Given the description of an element on the screen output the (x, y) to click on. 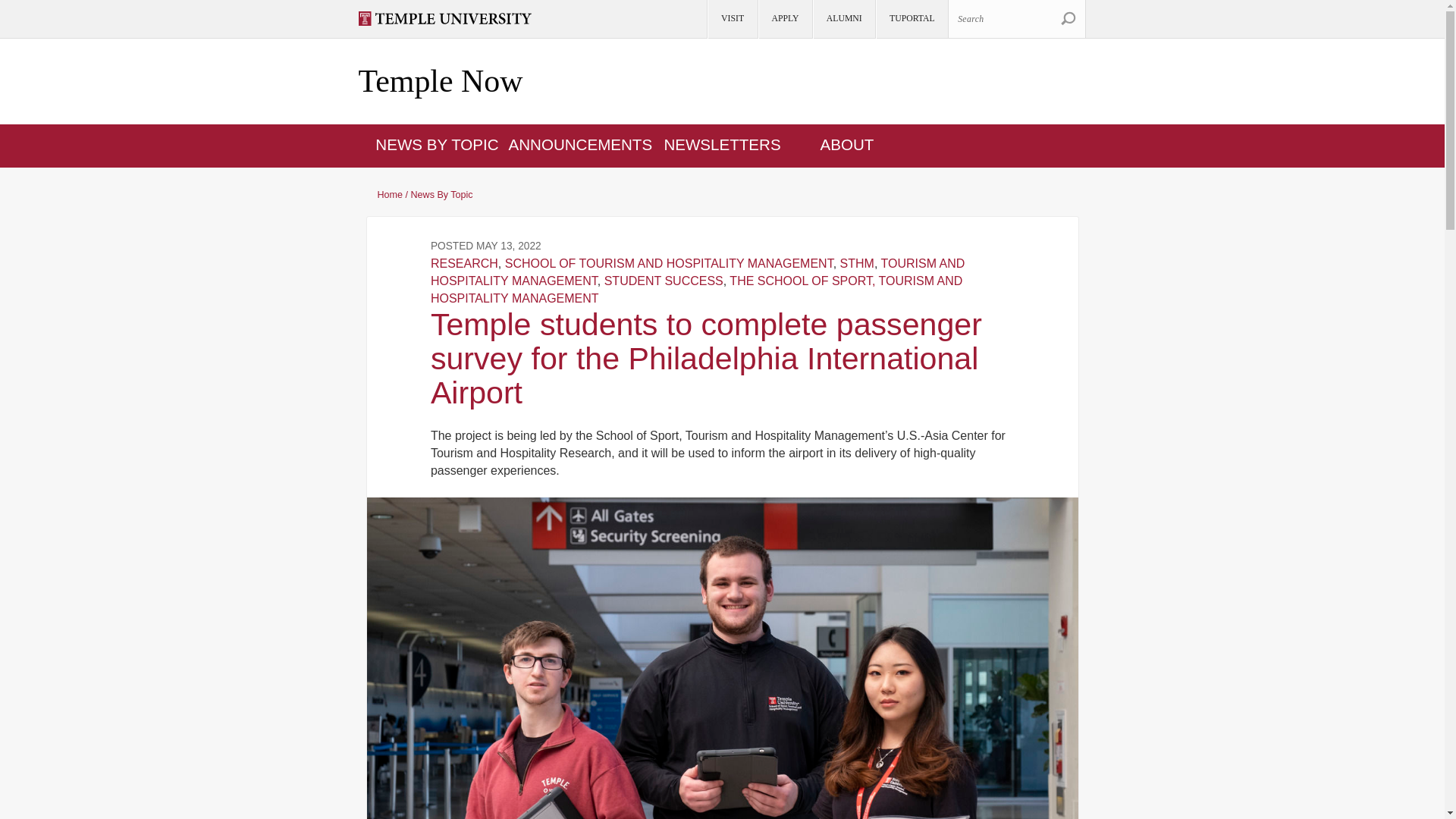
Temple Now (440, 81)
TUPORTAL (911, 19)
ABOUT (848, 144)
NEWSLETTERS (721, 144)
Search (1016, 18)
Search (1067, 18)
Search (1067, 18)
NEWS BY TOPIC (436, 144)
ANNOUNCEMENTS (580, 144)
ALUMNI (843, 19)
